Given the description of an element on the screen output the (x, y) to click on. 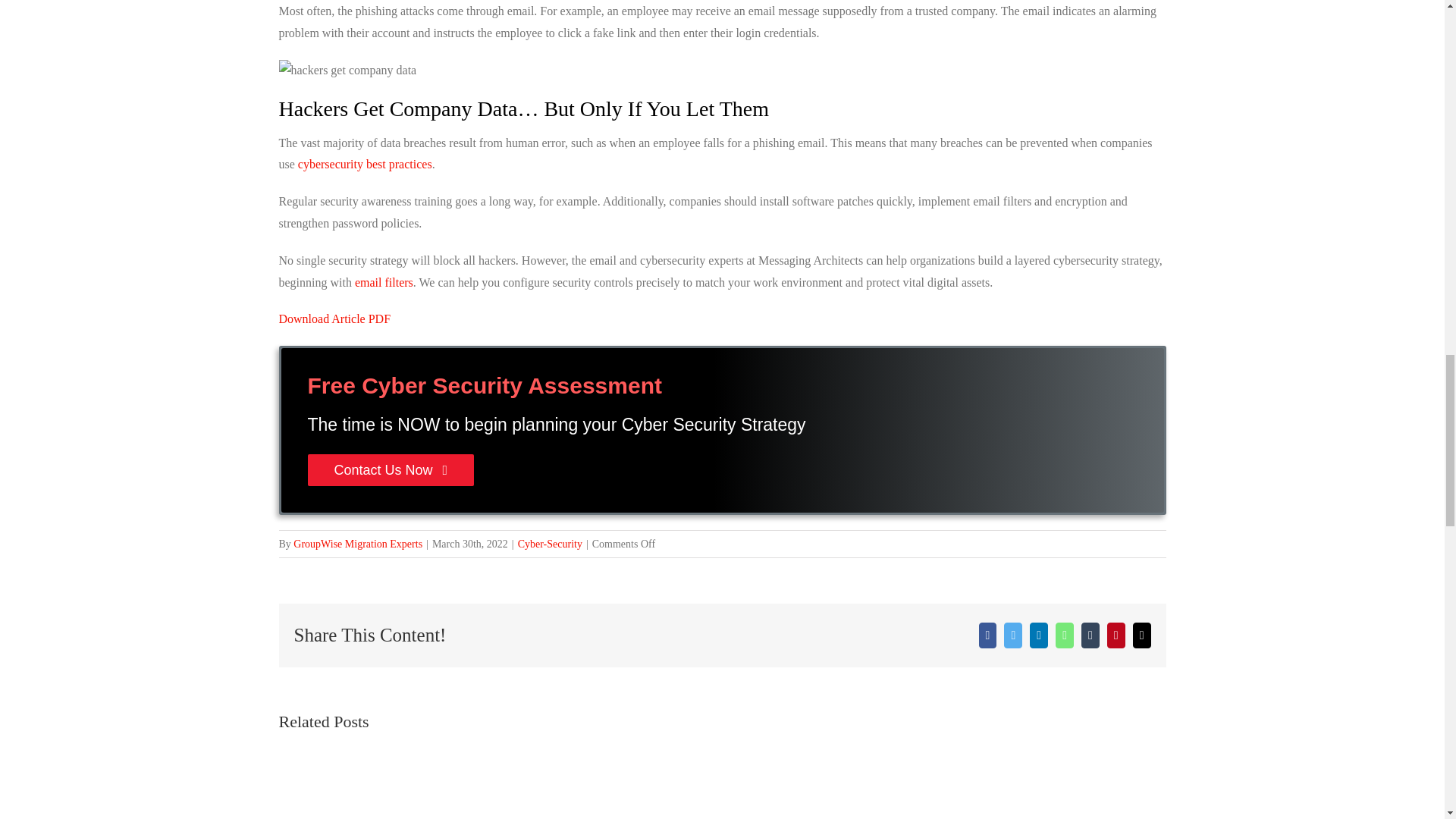
Download Article PDF (335, 318)
email filters (384, 282)
Cyber-Security (550, 543)
GroupWise Migration Experts (358, 543)
Contact Us Now (390, 469)
Posts by GroupWise Migration Experts (358, 543)
cybersecurity best practices (365, 164)
